Given the description of an element on the screen output the (x, y) to click on. 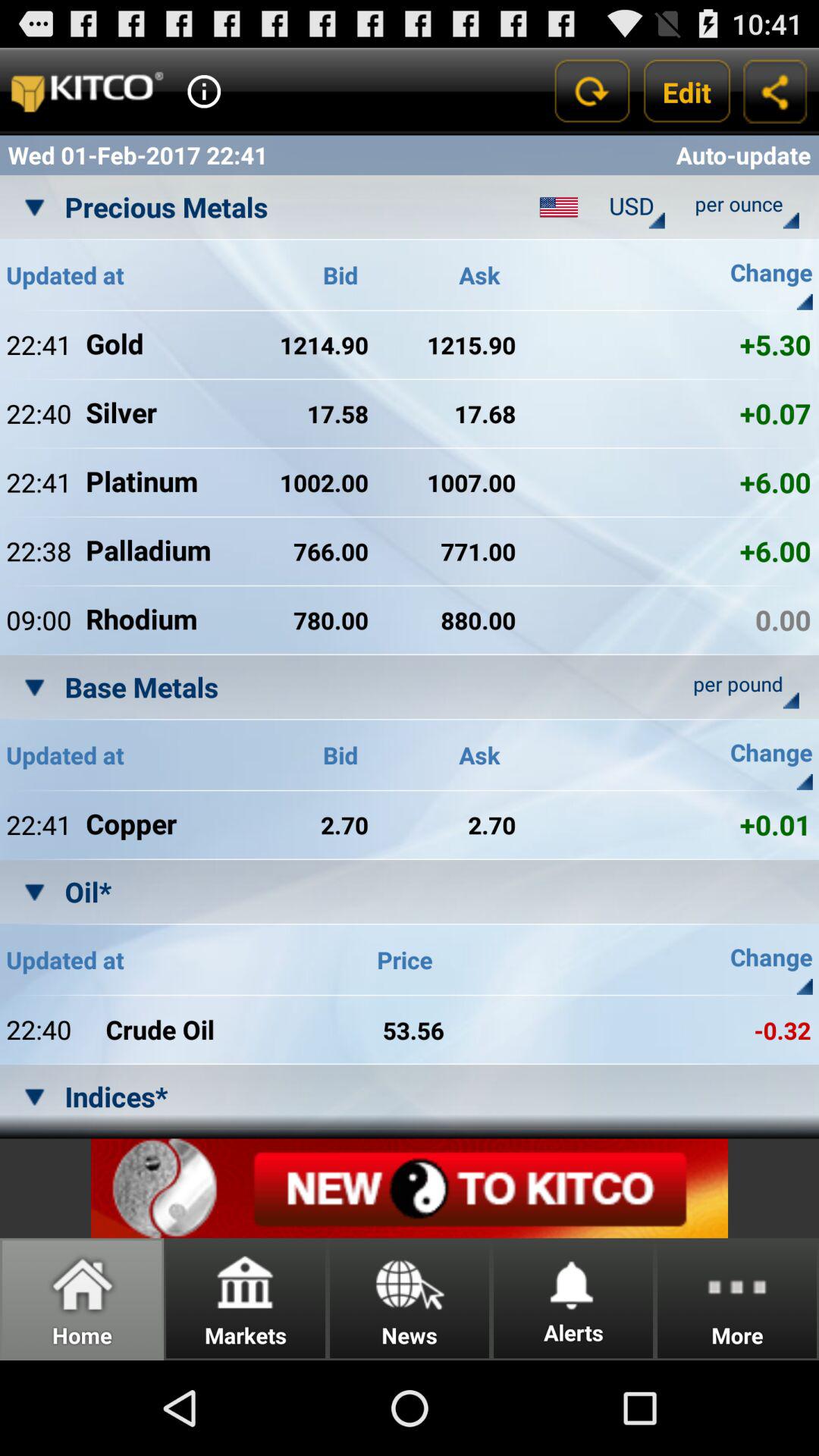
refresh (591, 91)
